Given the description of an element on the screen output the (x, y) to click on. 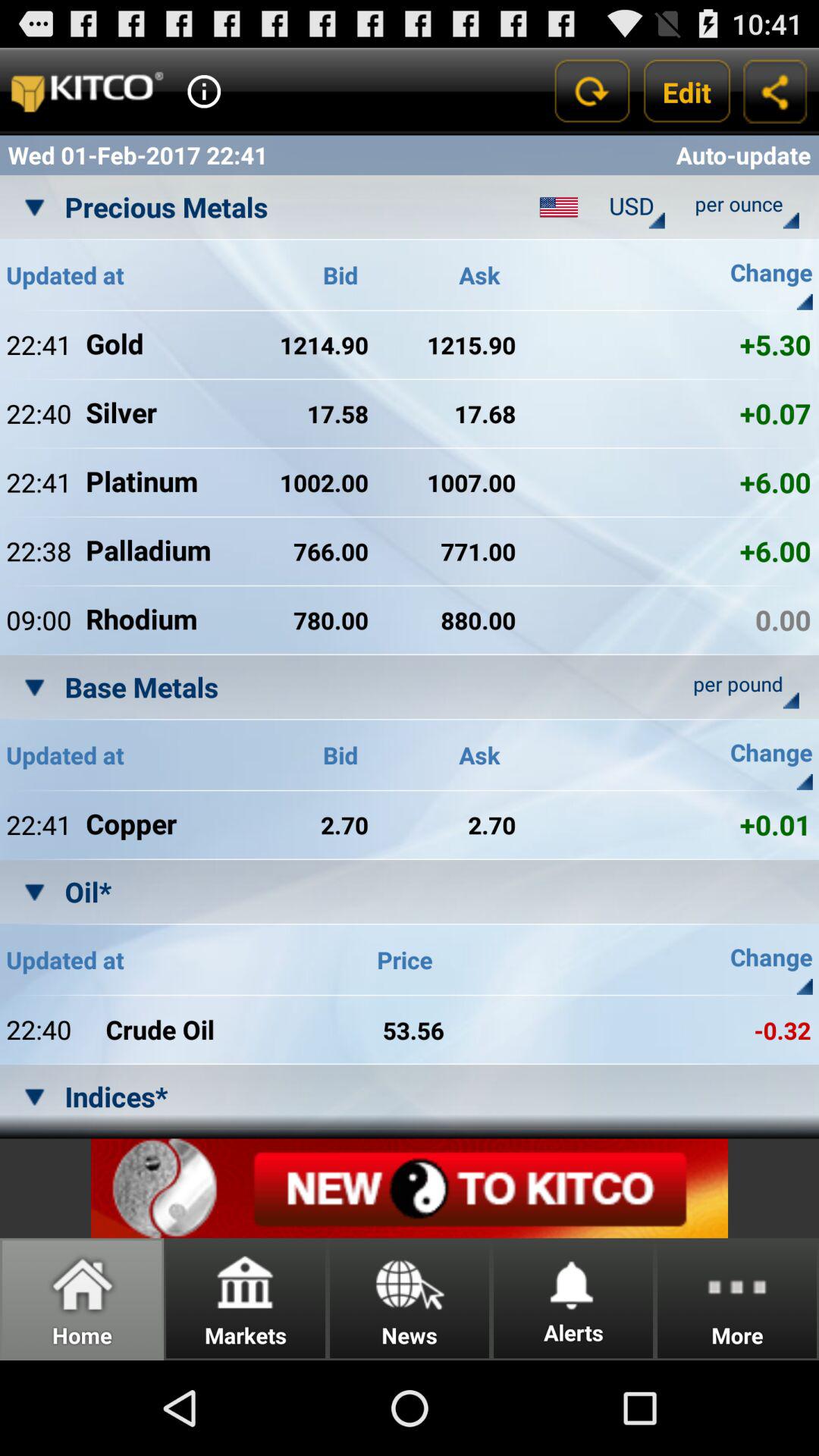
refresh (591, 91)
